Given the description of an element on the screen output the (x, y) to click on. 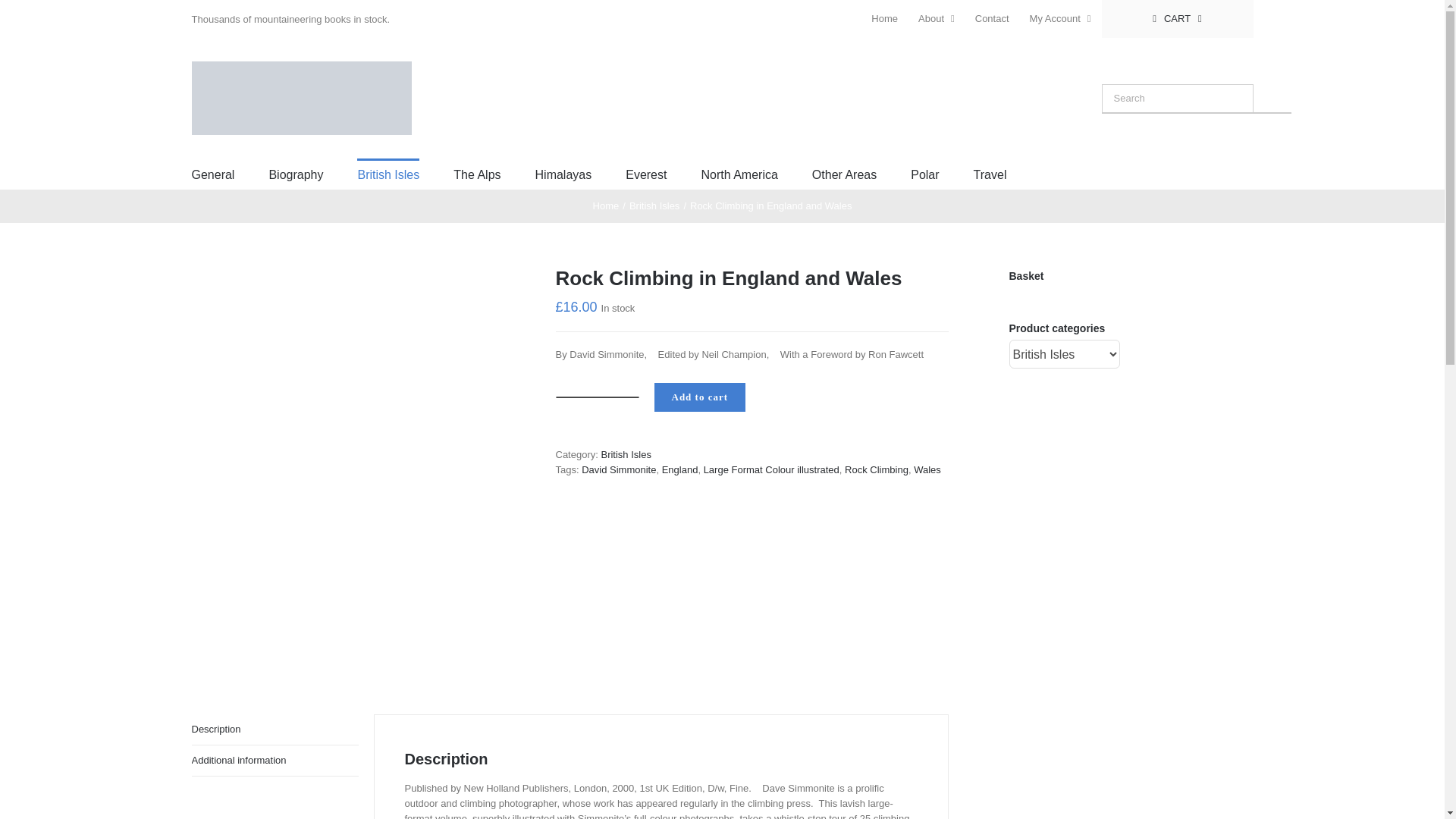
Biography (295, 173)
Log In (1114, 162)
North America (738, 173)
Other Areas (844, 173)
Large Format Colour illustrated (771, 469)
Polar (925, 173)
Add to cart (699, 396)
Home (884, 18)
British Isles (624, 454)
British Isles (387, 173)
